Given the description of an element on the screen output the (x, y) to click on. 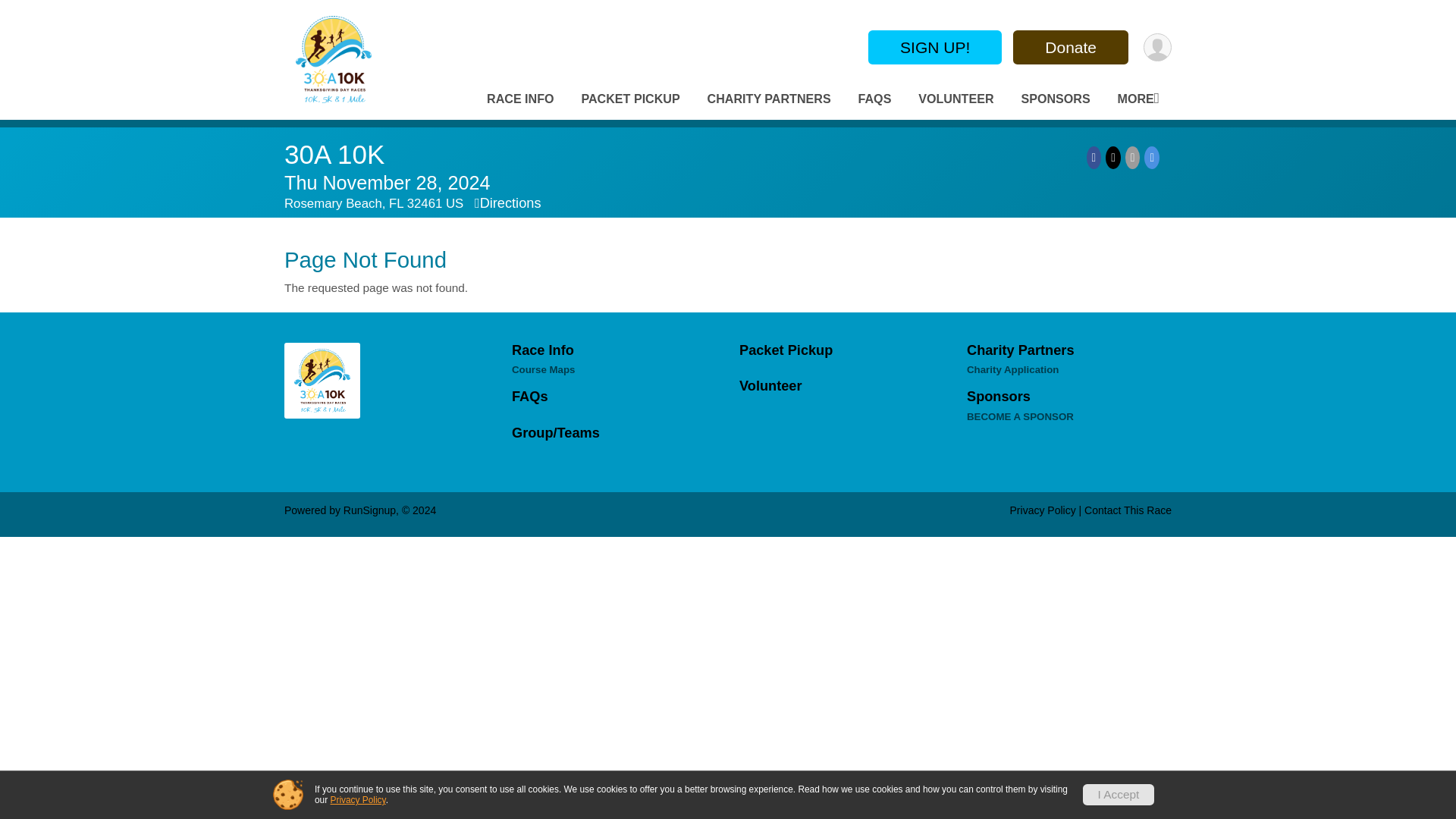
SPONSORS (1055, 98)
SIGN UP! (934, 47)
FAQS (874, 98)
PACKET PICKUP (630, 98)
CHARITY PARTNERS (769, 98)
VOLUNTEER (956, 98)
RACE INFO (520, 98)
Donate (1070, 47)
